Given the description of an element on the screen output the (x, y) to click on. 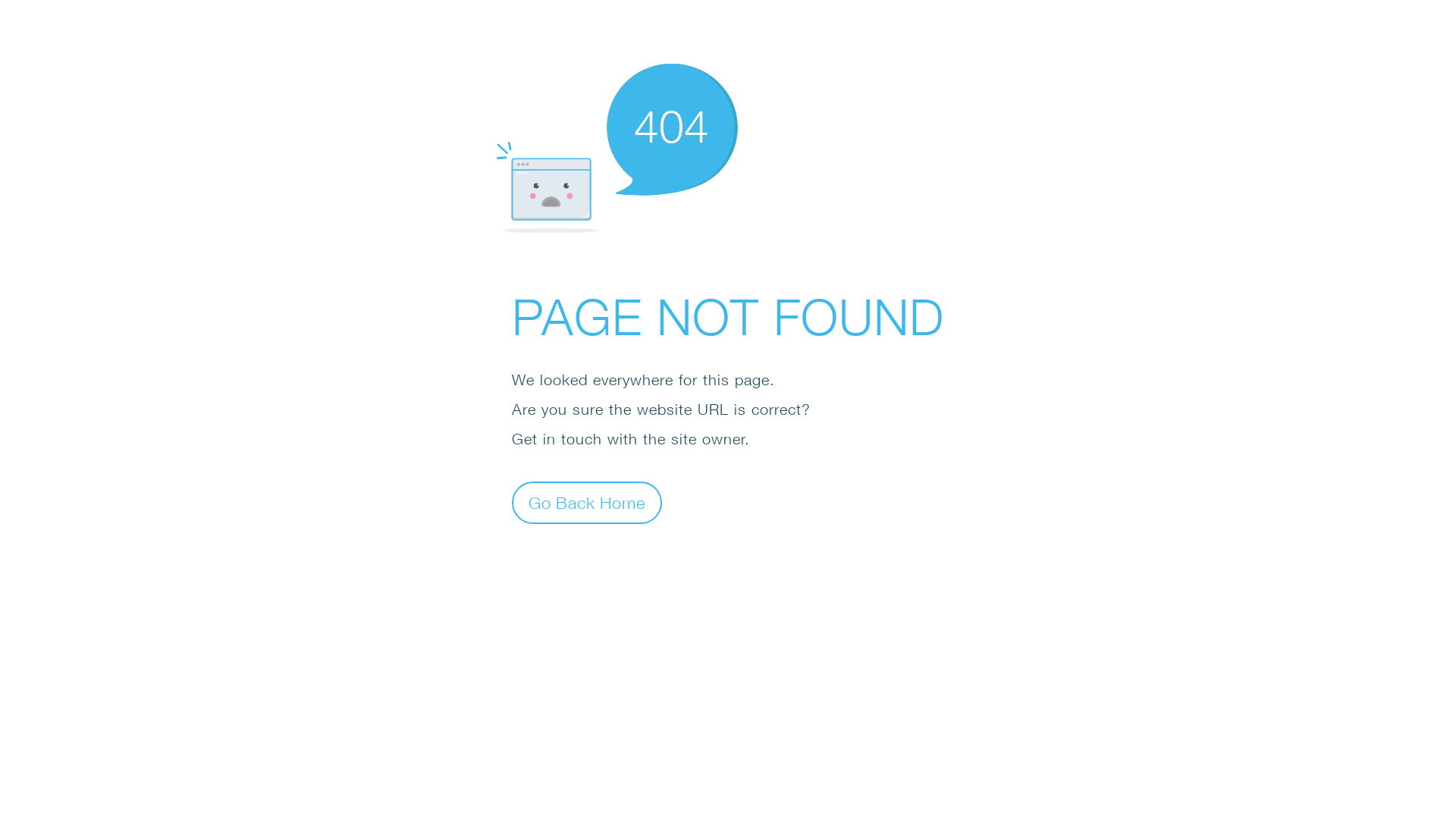
Go Back Home Element type: text (586, 502)
